Given the description of an element on the screen output the (x, y) to click on. 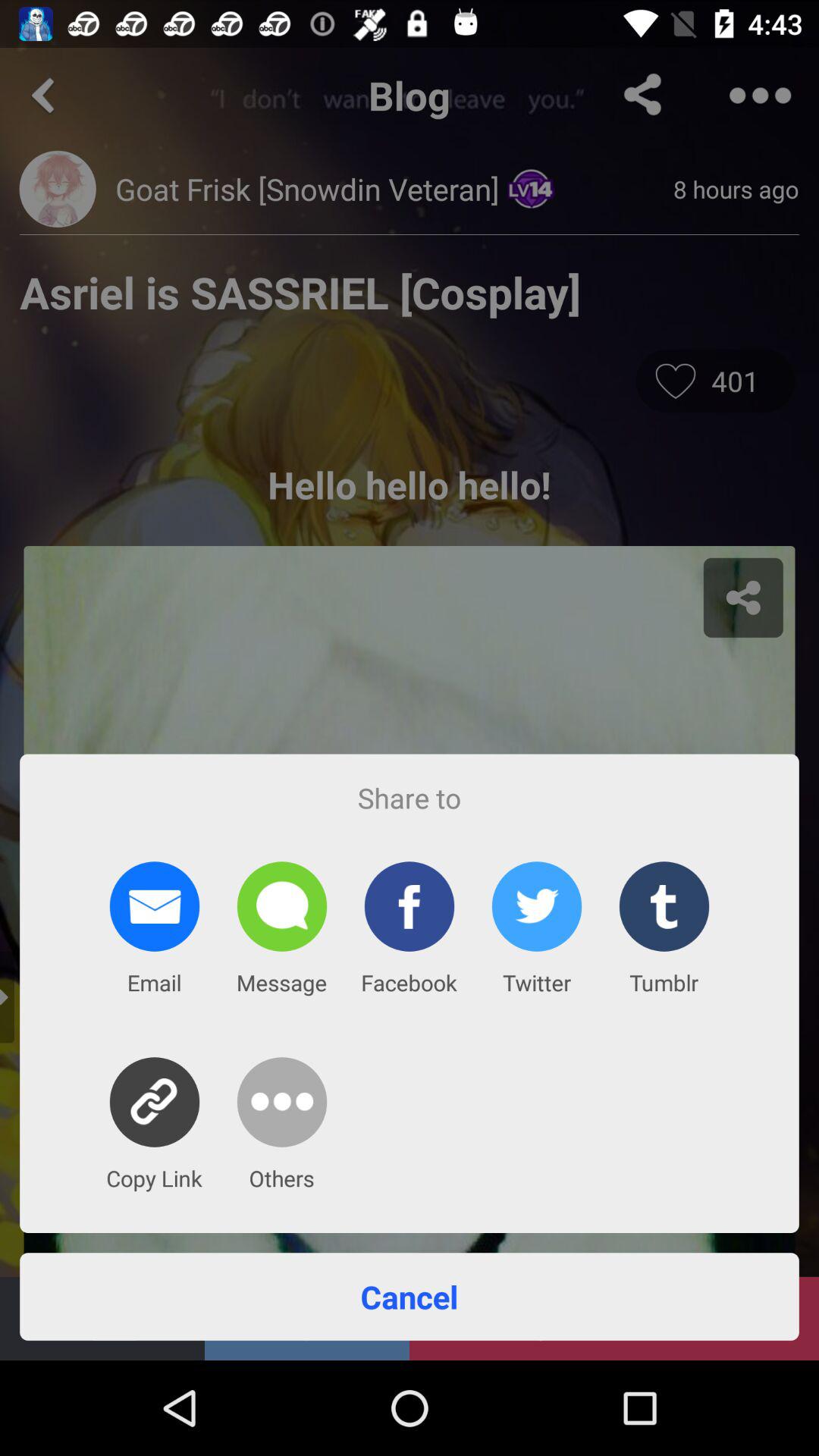
select the icon above share to icon (409, 367)
